Given the description of an element on the screen output the (x, y) to click on. 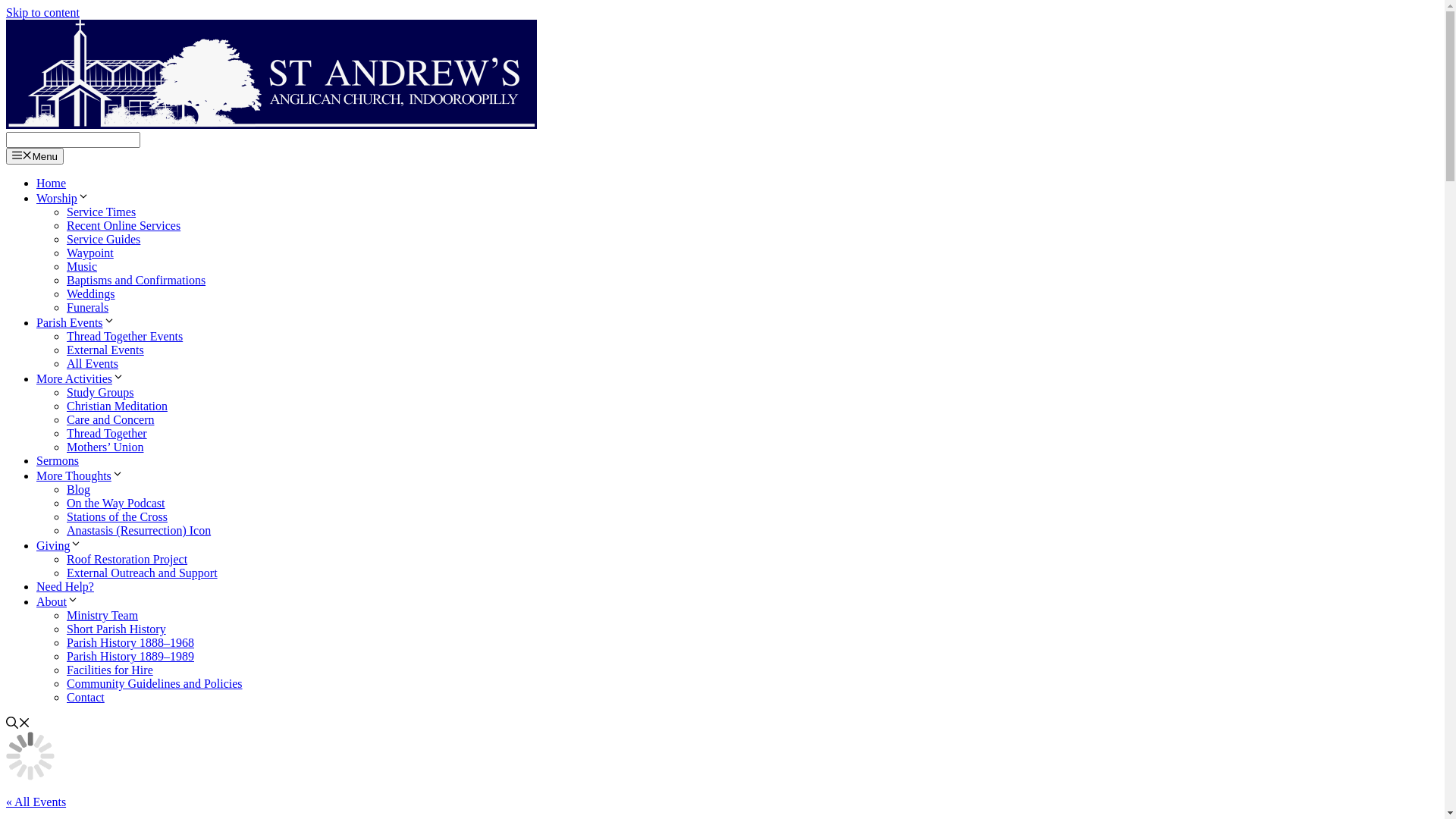
Recent Online Services Element type: text (123, 225)
Service Guides Element type: text (103, 238)
Christian Meditation Element type: text (116, 405)
About Element type: text (57, 601)
Funerals Element type: text (87, 307)
Short Parish History Element type: text (116, 628)
Service Times Element type: text (100, 211)
All Events Element type: text (92, 363)
Giving Element type: text (58, 545)
External Events Element type: text (105, 349)
Anastasis (Resurrection) Icon Element type: text (138, 530)
Care and Concern Element type: text (110, 419)
On the Way Podcast Element type: text (115, 502)
Facilities for Hire Element type: text (109, 669)
Baptisms and Confirmations Element type: text (135, 279)
Thread Together Events Element type: text (124, 335)
Roof Restoration Project Element type: text (126, 558)
Search Element type: hover (73, 139)
Study Groups Element type: text (99, 391)
Need Help? Element type: text (65, 586)
Blog Element type: text (78, 489)
Community Guidelines and Policies Element type: text (154, 683)
Music Element type: text (81, 266)
Ministry Team Element type: text (102, 614)
Skip to content Element type: text (42, 12)
Worship Element type: text (62, 197)
Thread Together Element type: text (106, 432)
Sermons Element type: text (57, 460)
Parish Events Element type: text (75, 322)
Stations of the Cross Element type: text (116, 516)
More Thoughts Element type: text (79, 475)
Home Element type: text (50, 182)
Waypoint Element type: text (89, 252)
External Outreach and Support Element type: text (141, 572)
Menu Element type: text (34, 155)
Contact Element type: text (85, 696)
Weddings Element type: text (90, 293)
More Activities Element type: text (80, 378)
